Given the description of an element on the screen output the (x, y) to click on. 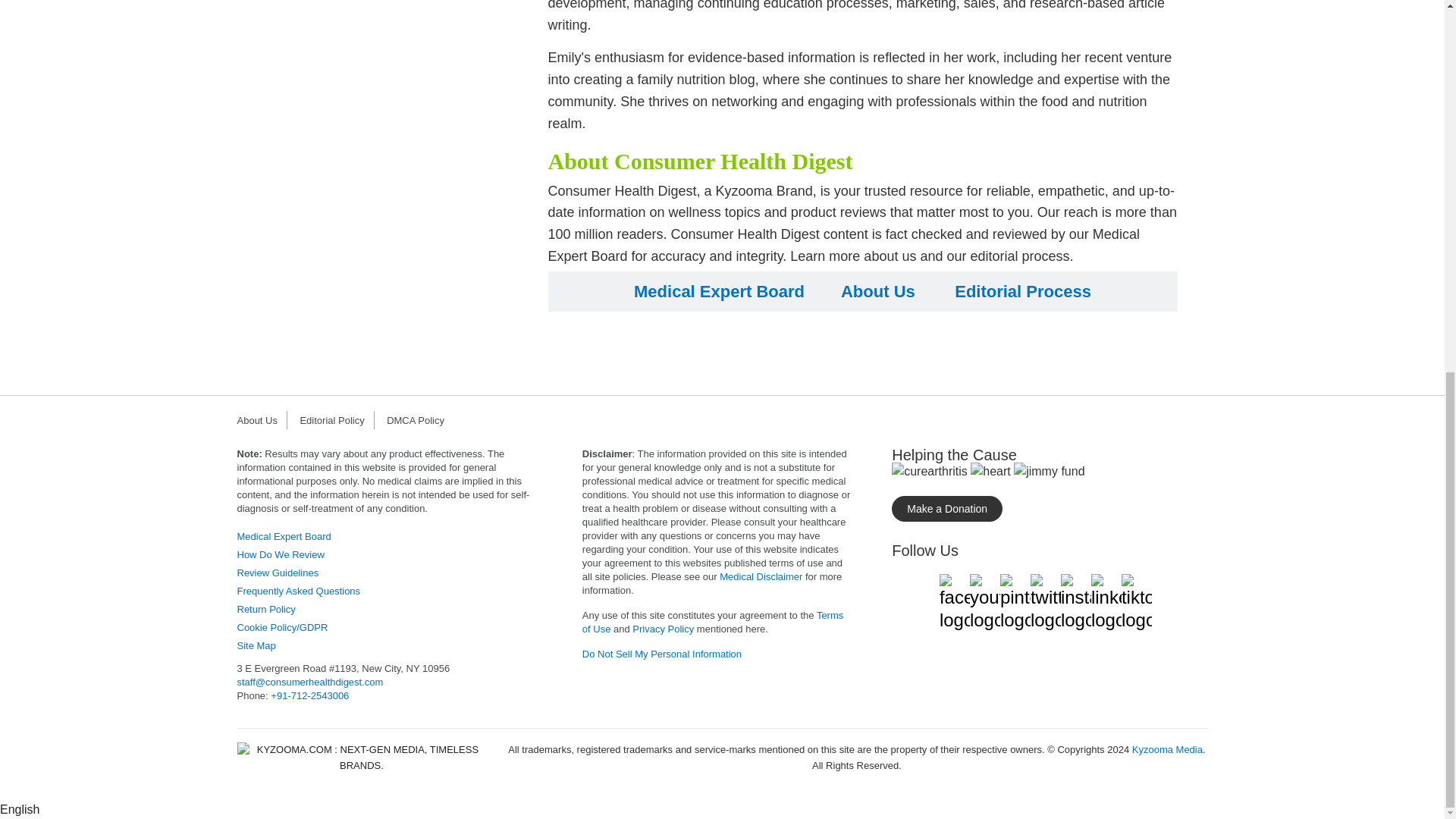
Editorial Policy (335, 419)
DMCA Policy (419, 419)
Editorial Process (1022, 291)
frequently asked questions (297, 591)
cookie policy (281, 627)
california privacy notice (661, 654)
medical expert (282, 536)
privacy policy (662, 628)
KYZOOMA.COM : NEXT-GEN MEDIA, TIMELESS BRANDS. (360, 757)
about us (878, 291)
